Given the description of an element on the screen output the (x, y) to click on. 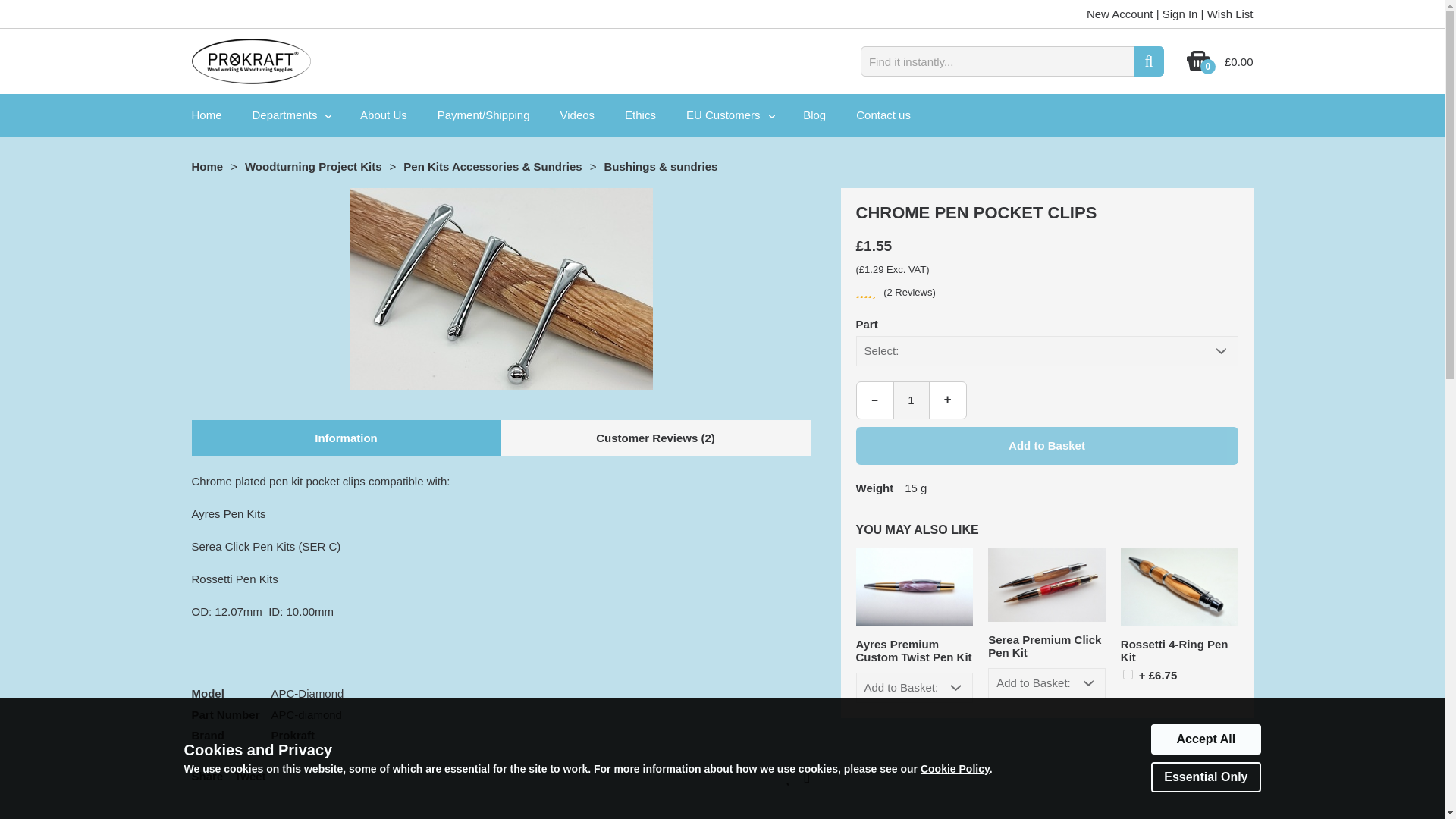
1 (1127, 674)
Wish List (1230, 13)
Ayres Premium Custom Twist Pen Kit (915, 586)
Sign In (1179, 13)
0 (1197, 66)
Woodturning Project Kits (312, 165)
About Us (383, 114)
Ethics (640, 114)
EU Customers (729, 115)
Go (1148, 60)
